Given the description of an element on the screen output the (x, y) to click on. 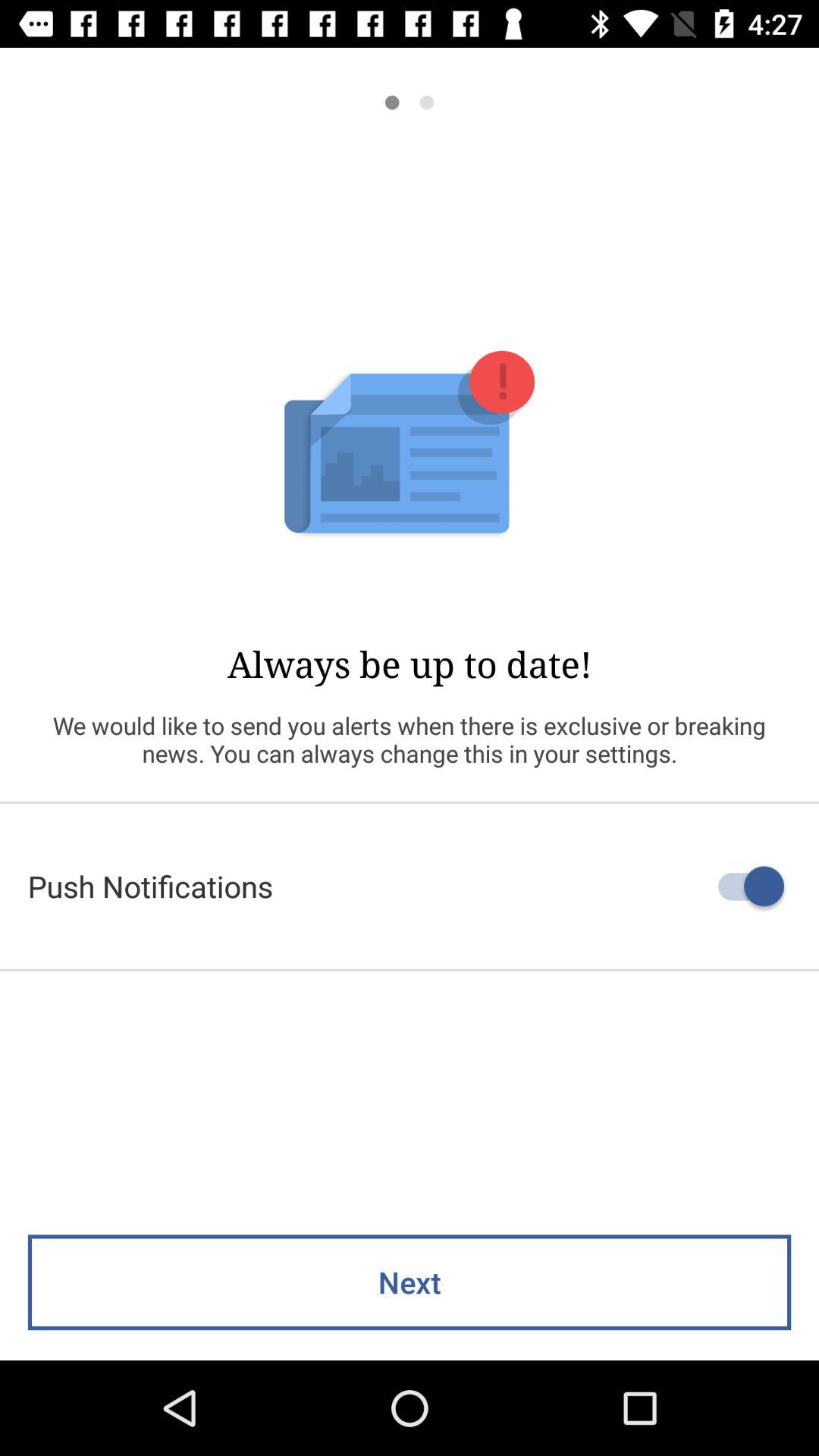
swipe to the next icon (409, 1282)
